Given the description of an element on the screen output the (x, y) to click on. 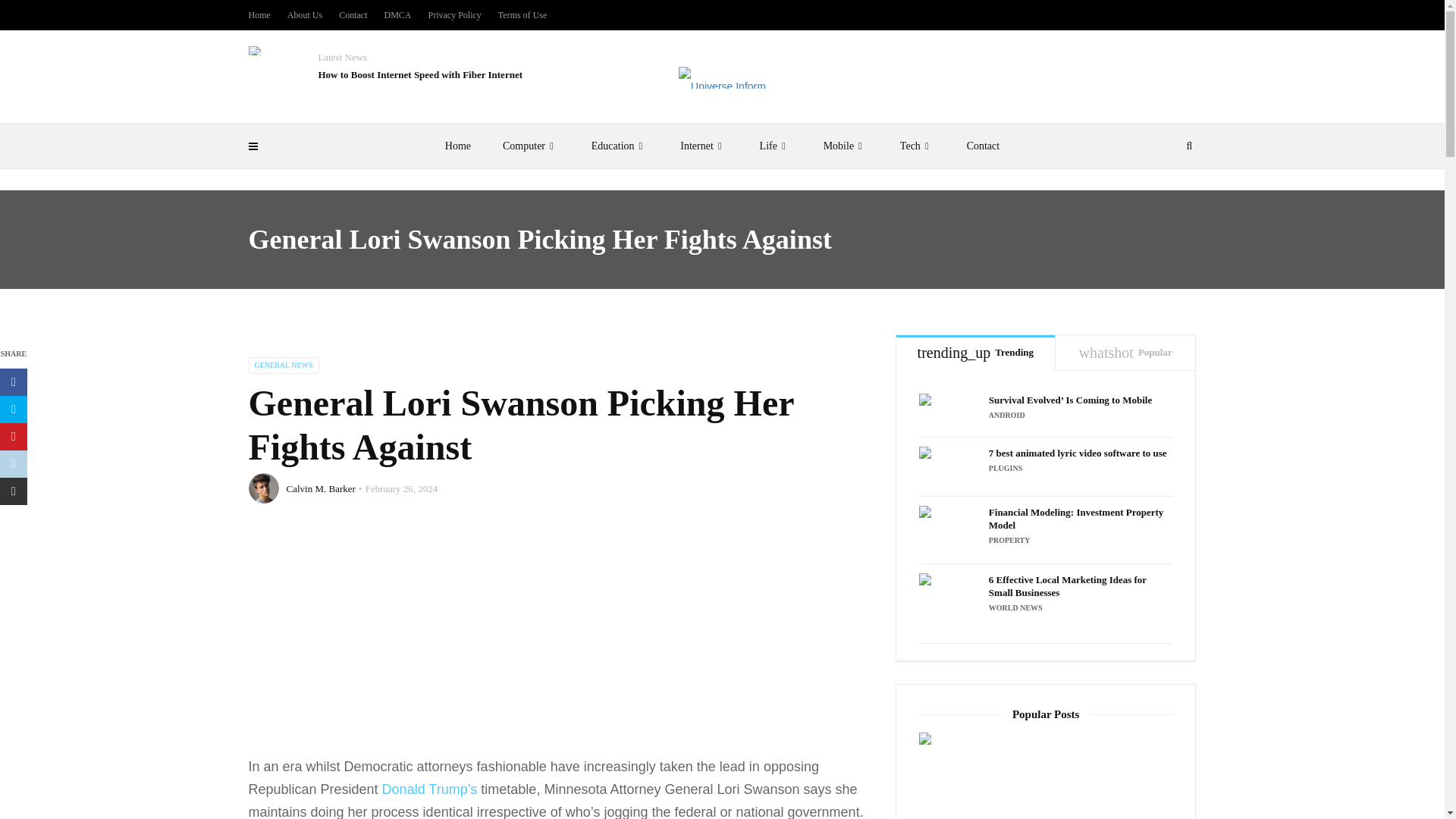
Computer (530, 145)
Education (620, 145)
Financial Modeling: Investment Property Model 83 (948, 530)
How to Boost Internet Speed with Fiber Internet 1 (254, 50)
Internet (702, 145)
6 Effective Local Marketing Ideas for Small Businesses 84 (948, 603)
Life (776, 145)
7 best animated lyric video software to use 82 (948, 466)
Survival Evolved' Is Coming to Mobile 81 (948, 410)
Home (457, 145)
Advertisement (560, 641)
